Given the description of an element on the screen output the (x, y) to click on. 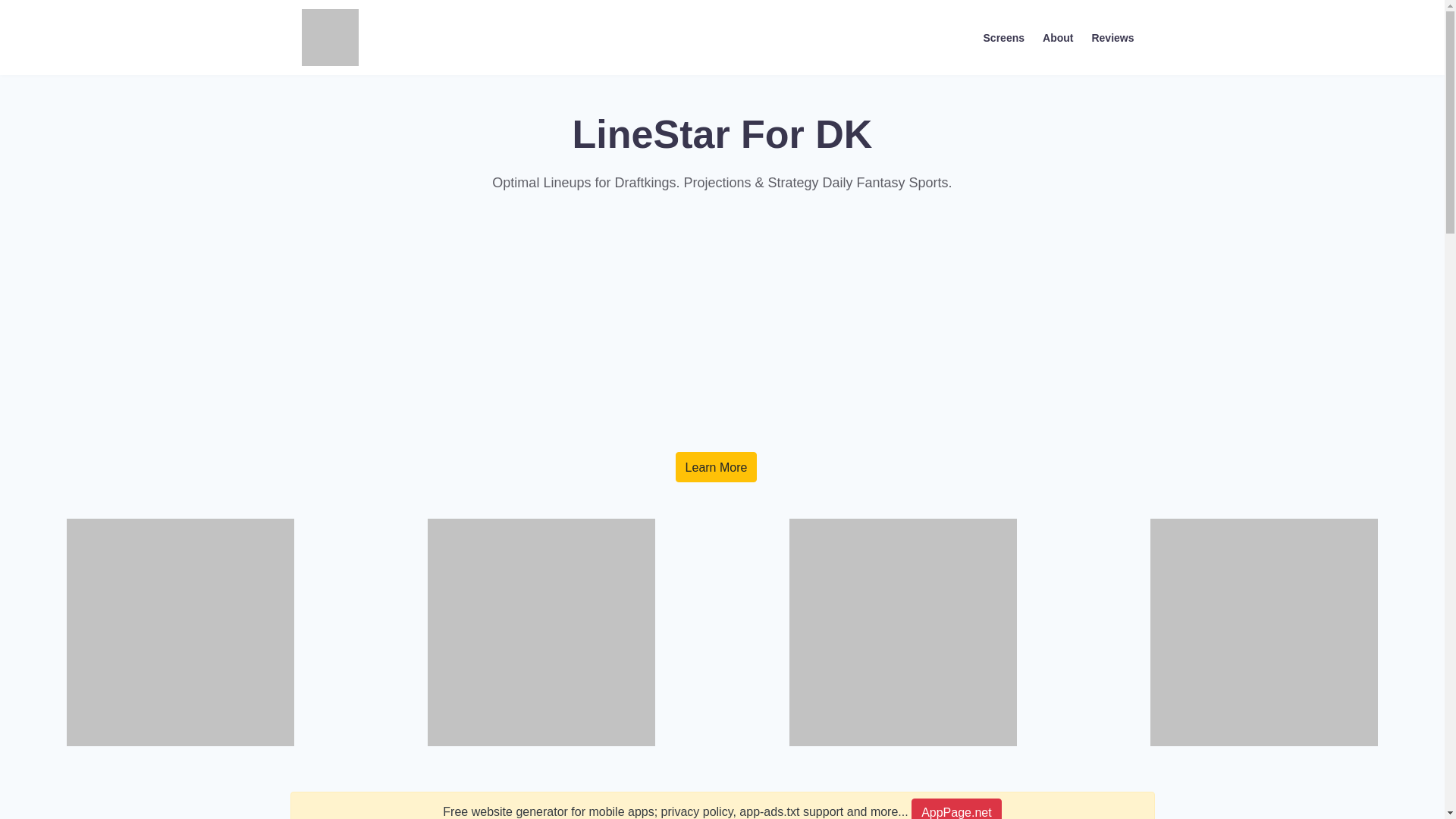
About (1057, 36)
Learn More (716, 467)
Reviews (1111, 36)
About (1057, 36)
Reviews (1111, 36)
Screens (1003, 36)
Learn More (716, 467)
Learn More (716, 467)
Screens (1003, 36)
AppPage.net (956, 808)
